Given the description of an element on the screen output the (x, y) to click on. 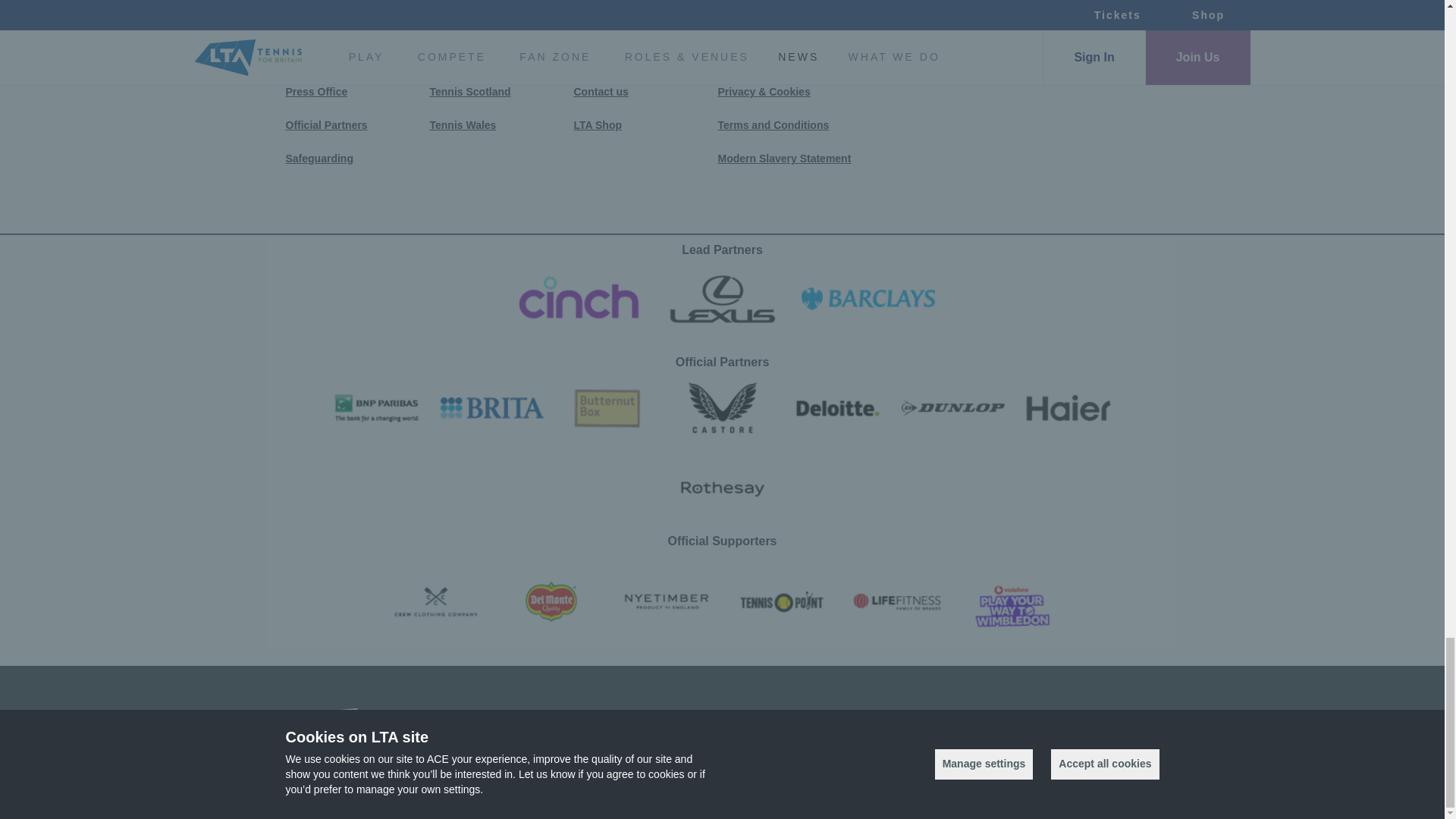
LinkedIn (1090, 63)
BNP Paribas (375, 407)
Lexus logo in black writing (721, 298)
LinkedIn (1090, 62)
YouTube (1010, 63)
YouTube (1010, 62)
Barclays logo (867, 298)
Facebook (891, 62)
Instagram (931, 63)
TikTok (1050, 62)
Facebook (891, 63)
X (971, 63)
Castore (720, 407)
cinch (576, 298)
TikTok (1050, 63)
